Given the description of an element on the screen output the (x, y) to click on. 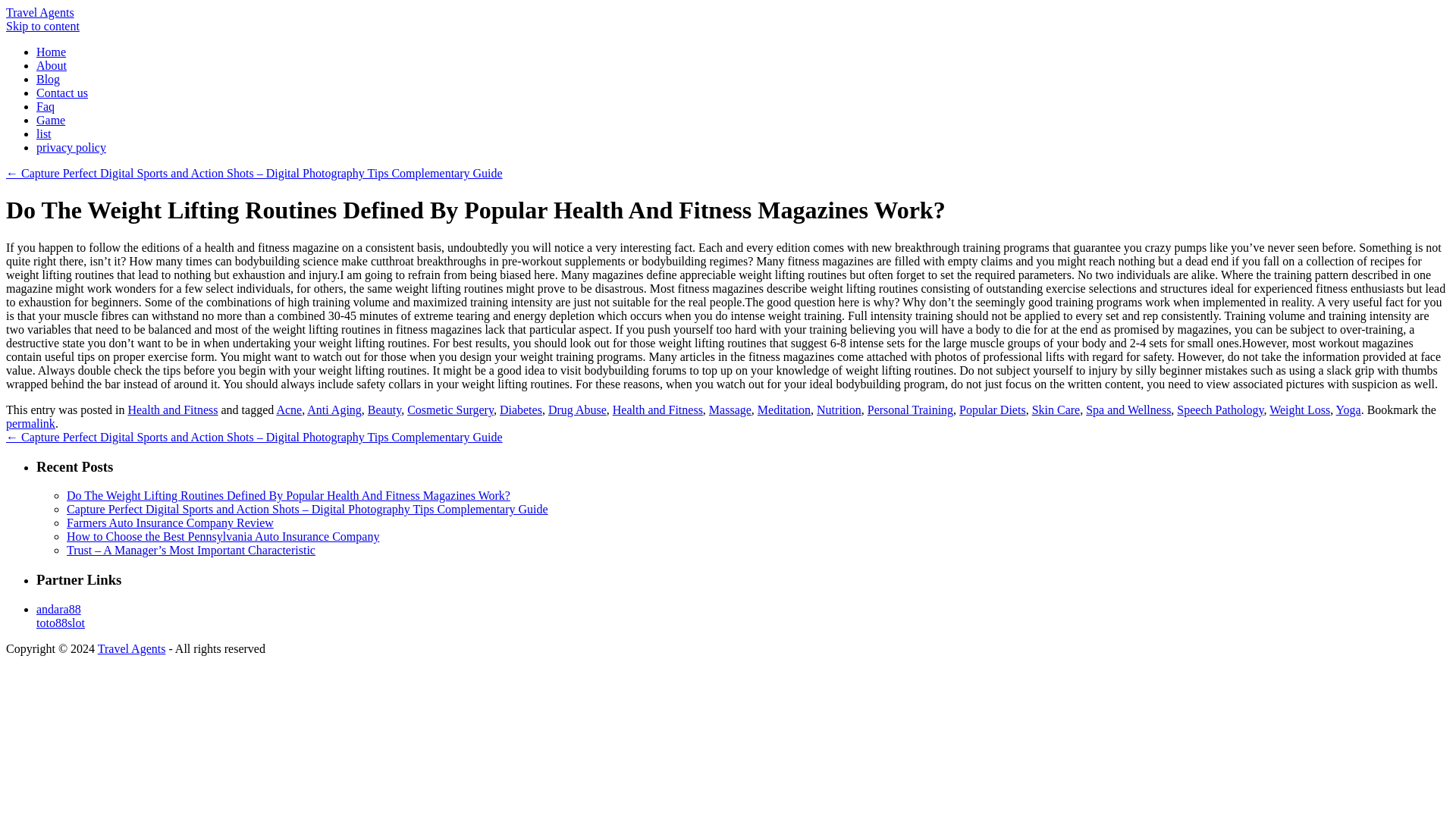
About (51, 65)
andara88 (58, 608)
Popular Diets (992, 409)
Spa and Wellness (1128, 409)
Speech Pathology (1219, 409)
permalink (30, 422)
Health and Fitness (657, 409)
Massage (730, 409)
Blog (47, 78)
Home (50, 51)
Nutrition (838, 409)
Skip to content (42, 25)
